Given the description of an element on the screen output the (x, y) to click on. 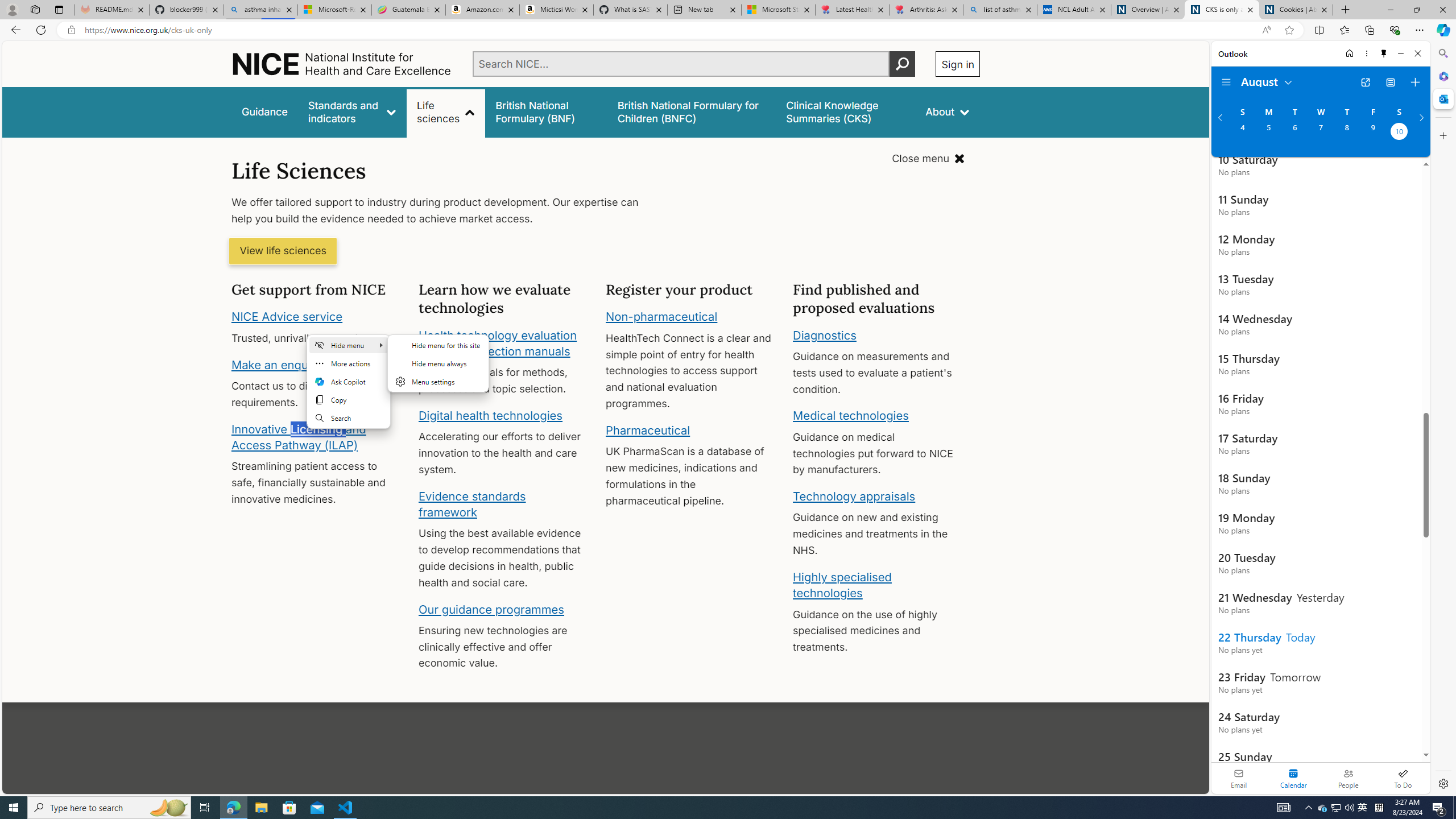
People (1347, 777)
Diagnostics (824, 334)
British National Formulary for Children (BNFC) (691, 111)
Menu settings (438, 381)
Email (1238, 777)
